Given the description of an element on the screen output the (x, y) to click on. 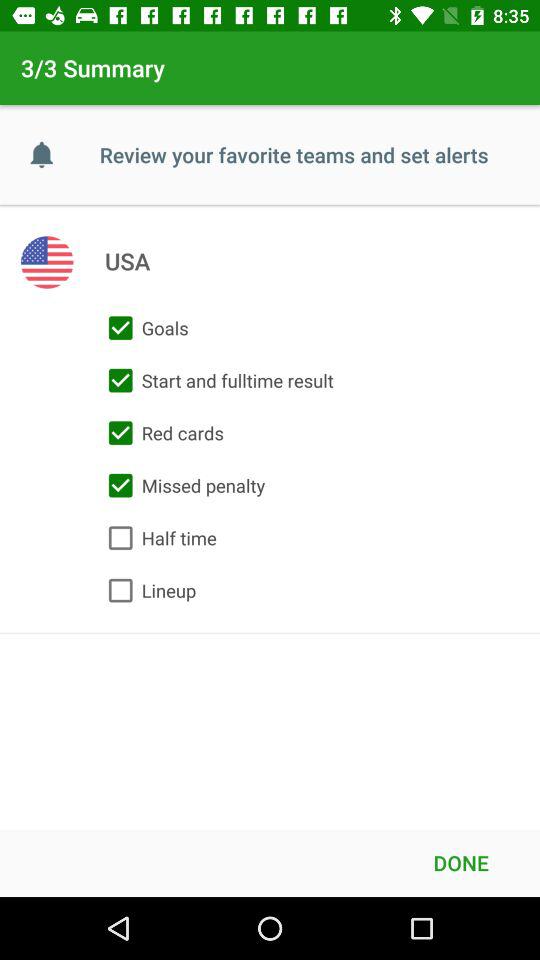
turn on the lineup (147, 590)
